Given the description of an element on the screen output the (x, y) to click on. 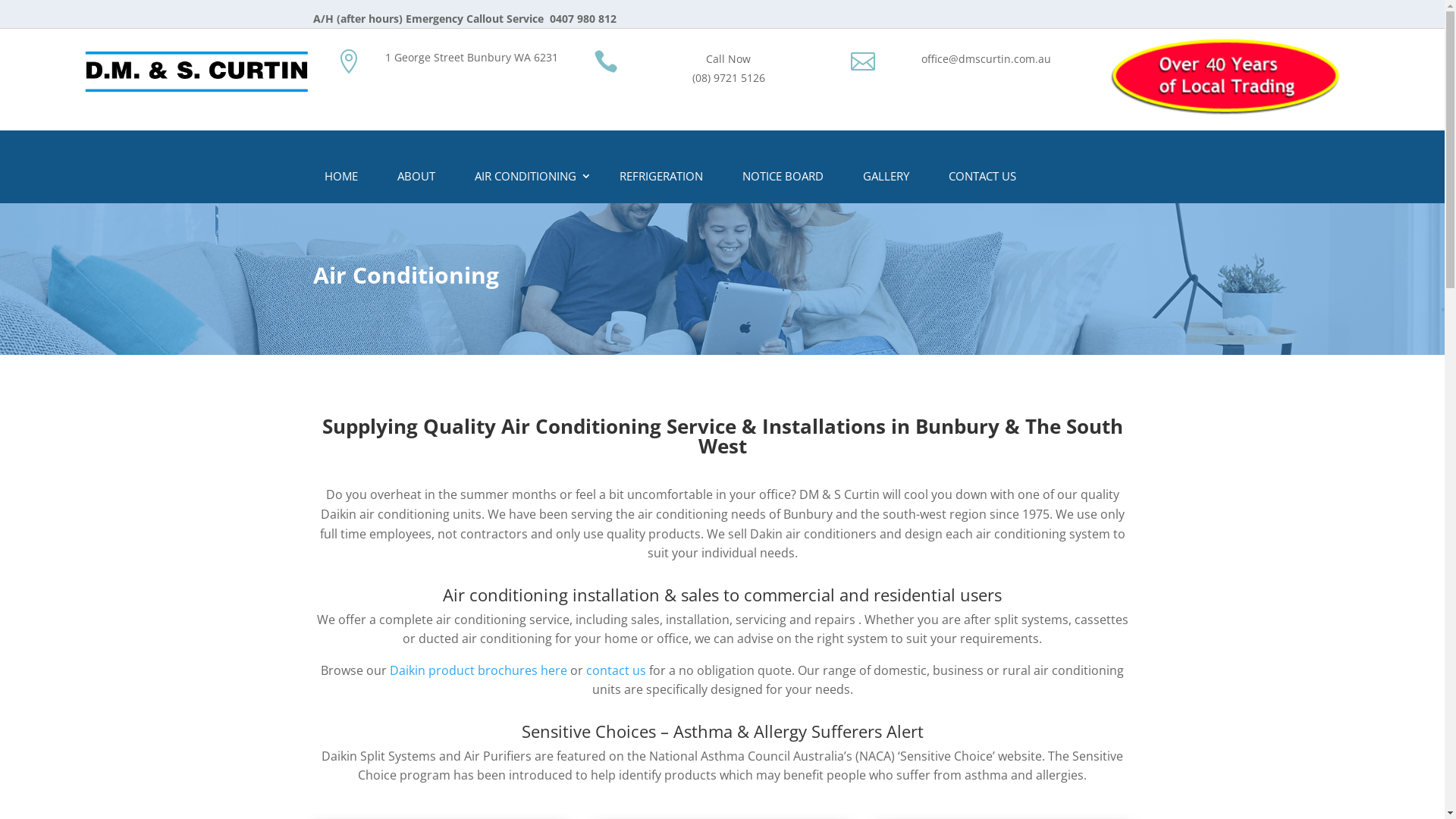
Call Now
(08) 9721 5126 Element type: text (728, 67)
contact us Element type: text (616, 670)
Daikin product brochures here Element type: text (478, 670)
A/H (after hours) Emergency Callout Service  0407 980 812 Element type: text (463, 18)
NOTICE BOARD Element type: text (782, 179)
REFRIGERATION Element type: text (661, 179)
AIR CONDITIONING Element type: text (526, 179)
HOME Element type: text (340, 179)
CONTACT US Element type: text (982, 179)
office@dmscurtin.com.au Element type: text (986, 58)
1 George Street Bunbury WA 6231 Element type: text (471, 57)
GALLERY Element type: text (884, 179)
ABOUT Element type: text (415, 179)
